Given the description of an element on the screen output the (x, y) to click on. 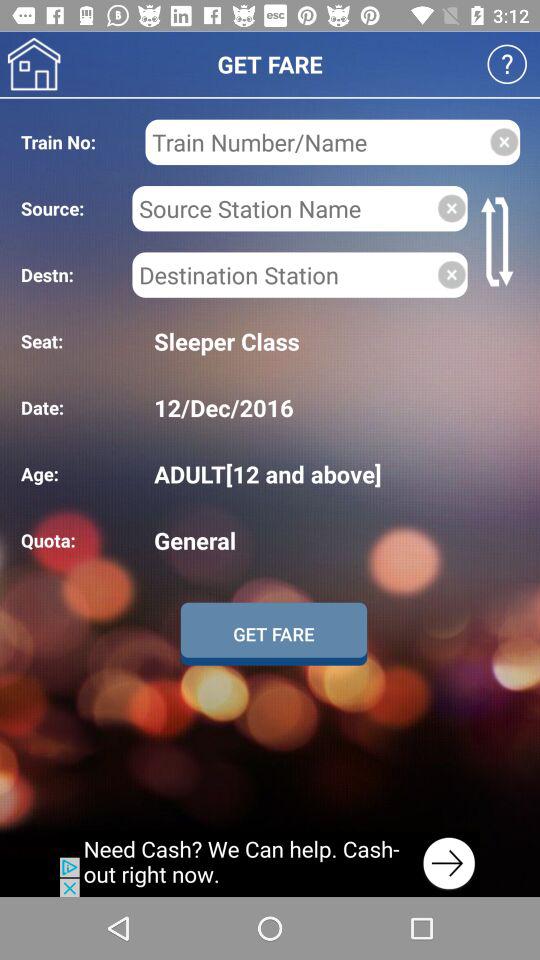
adverisement (270, 864)
